Given the description of an element on the screen output the (x, y) to click on. 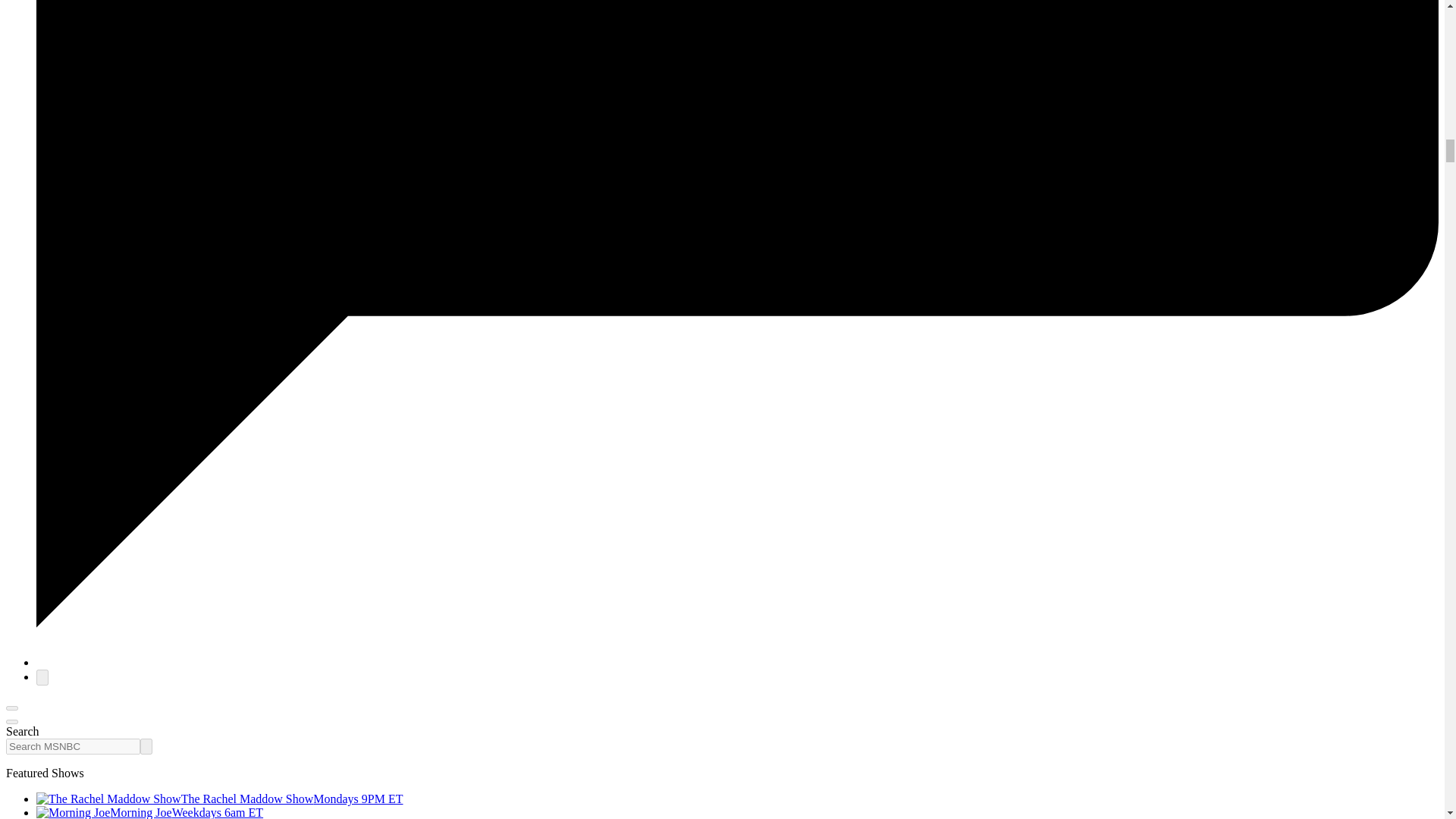
The Rachel Maddow ShowMondays 9PM ET (219, 798)
Morning JoeWeekdays 6am ET (149, 812)
Search (145, 746)
